Given the description of an element on the screen output the (x, y) to click on. 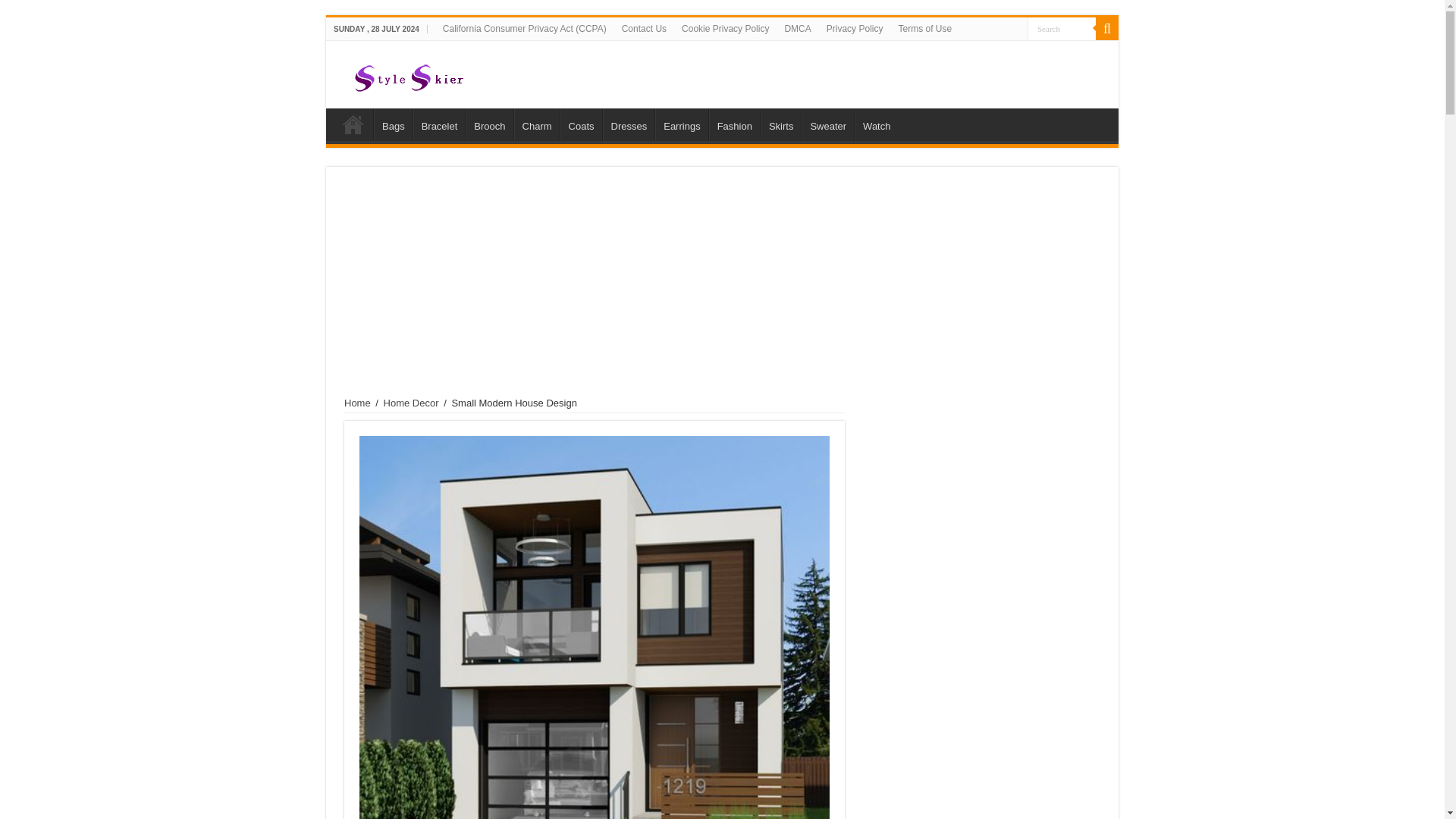
StyleSkier.com (716, 74)
Coats (581, 124)
Search (1107, 28)
Search (1061, 28)
Cookie Privacy Policy (725, 28)
Dresses (628, 124)
Brooch (488, 124)
Earrings (681, 124)
Charm (536, 124)
Watch (876, 124)
Home (357, 402)
Sweater (827, 124)
Bracelet (439, 124)
Fashion (734, 124)
